Given the description of an element on the screen output the (x, y) to click on. 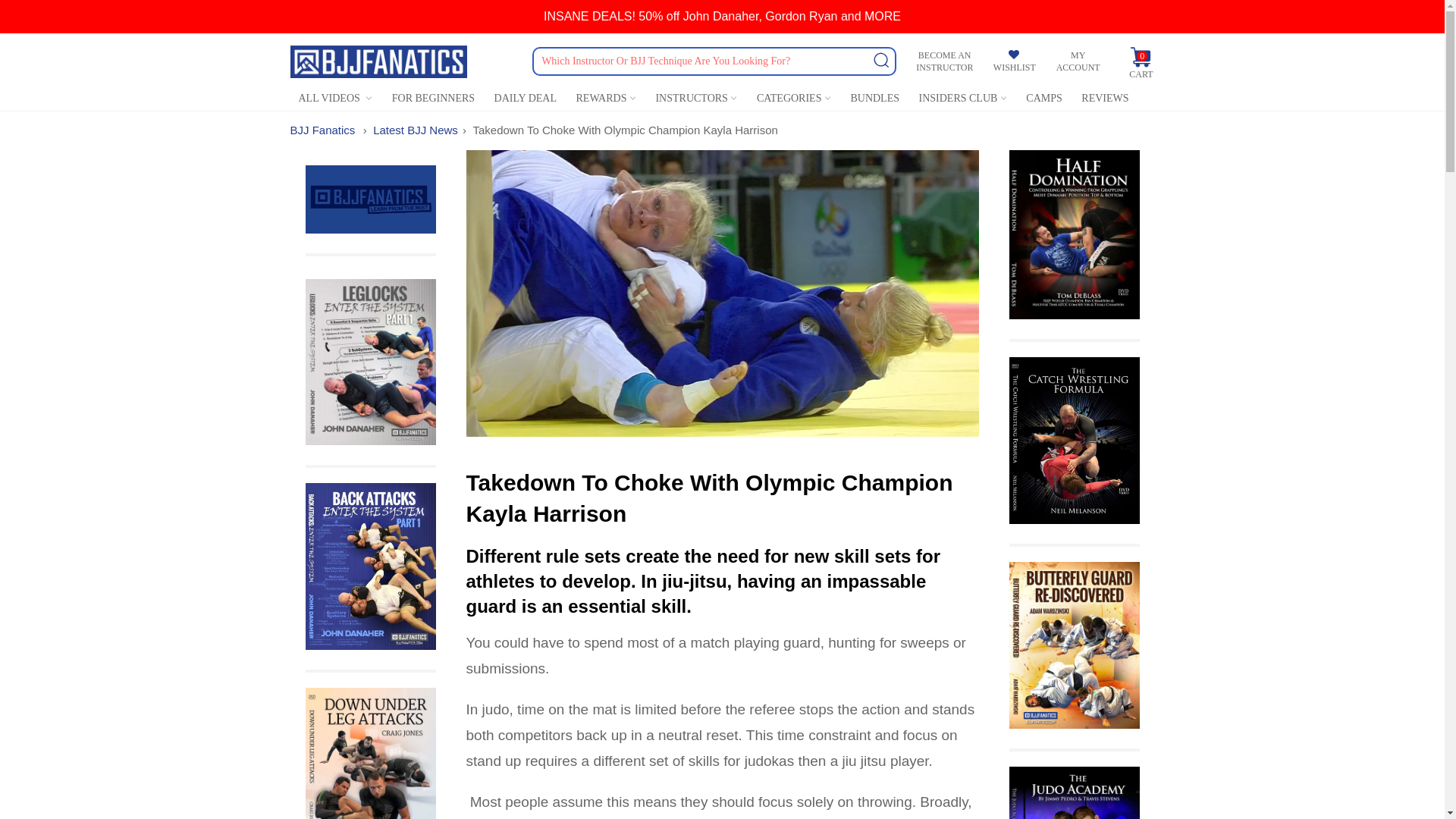
Become An Instructor (943, 61)
Home (322, 129)
